Given the description of an element on the screen output the (x, y) to click on. 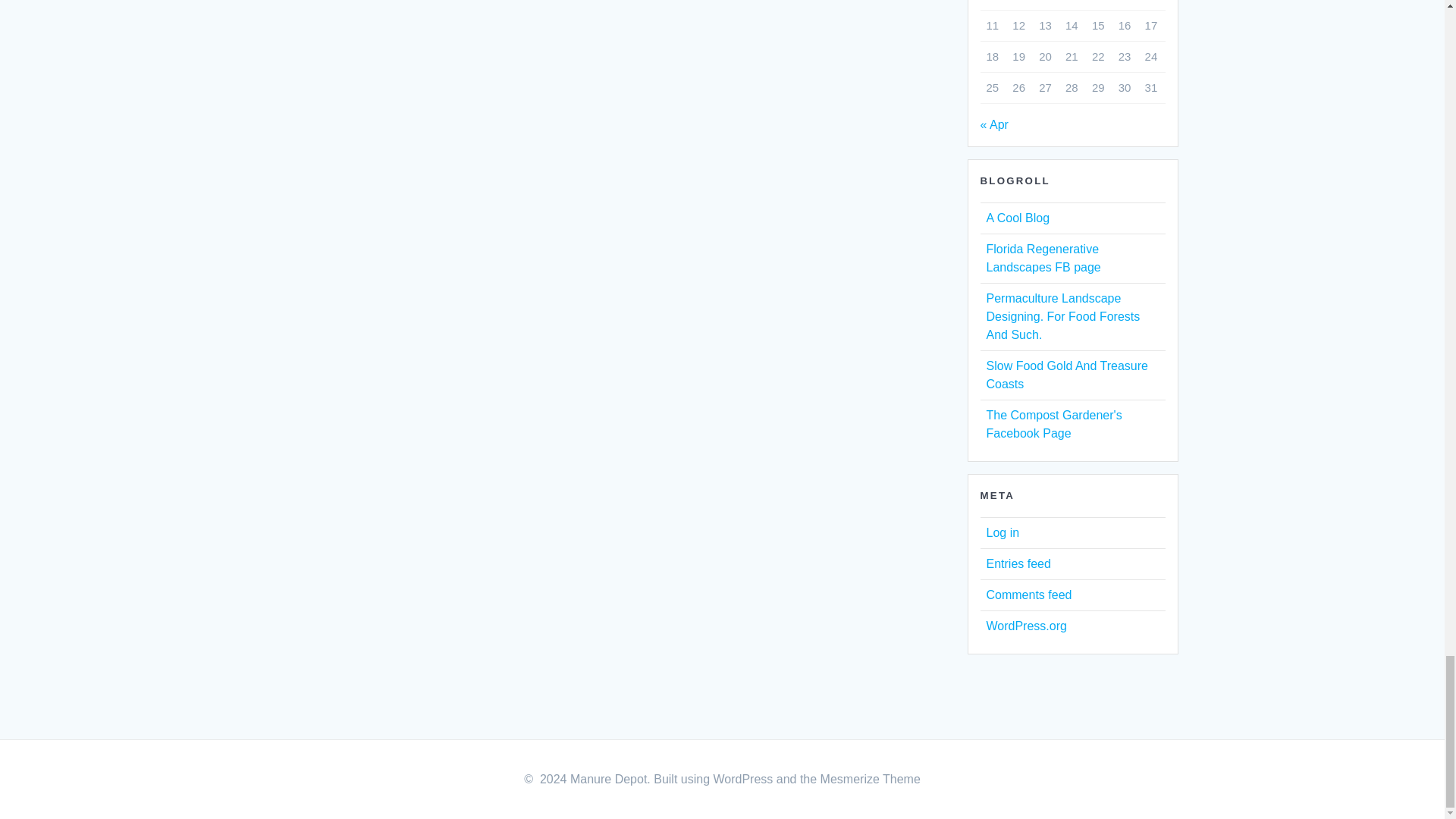
Florida Regenerative Landscapes Facebook page (1042, 257)
The Compost Gardener (1053, 423)
The Permaculture Landscaping Blog Site for Lucie and Adina (1062, 316)
Slow Food GTC (1066, 374)
